Given the description of an element on the screen output the (x, y) to click on. 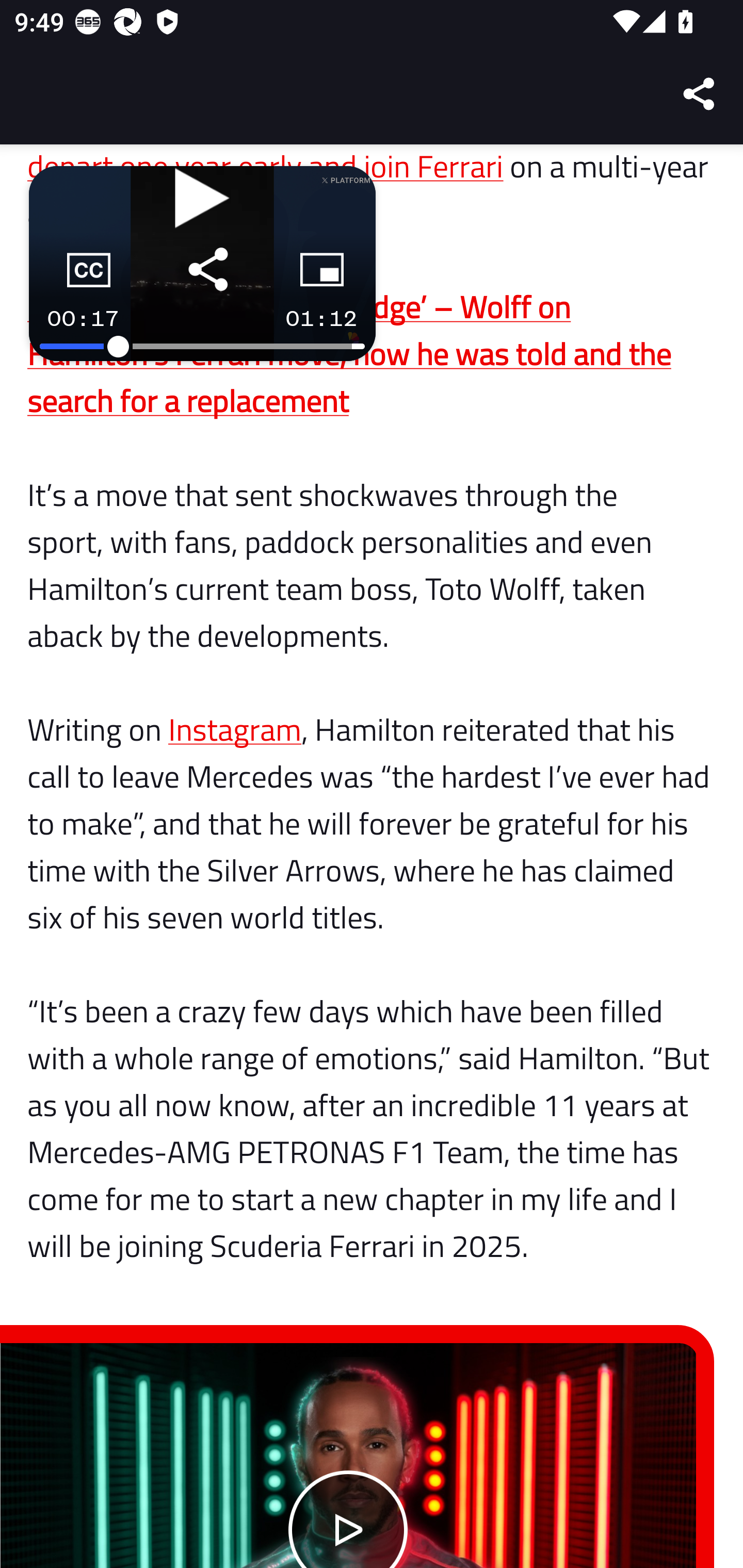
Share (699, 93)
Lewis Hamilton signs for Ferrari in 2025 - Image (349, 1455)
